Given the description of an element on the screen output the (x, y) to click on. 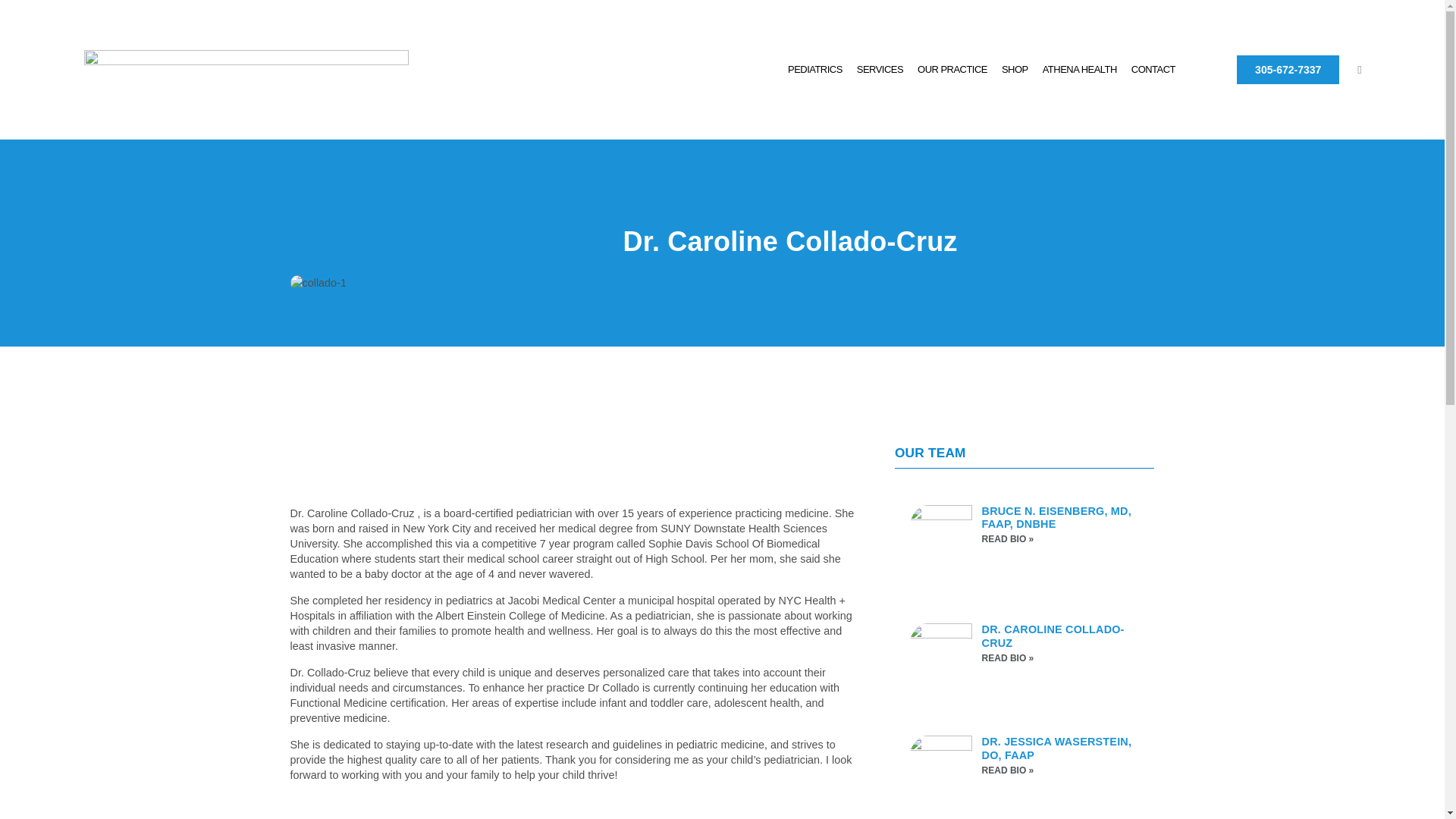
OUR PRACTICE (952, 69)
SERVICES (879, 69)
CONTACT (1152, 69)
PEDIATRICS (815, 69)
ATHENA HEALTH (1079, 69)
collado-1 (317, 282)
